Given the description of an element on the screen output the (x, y) to click on. 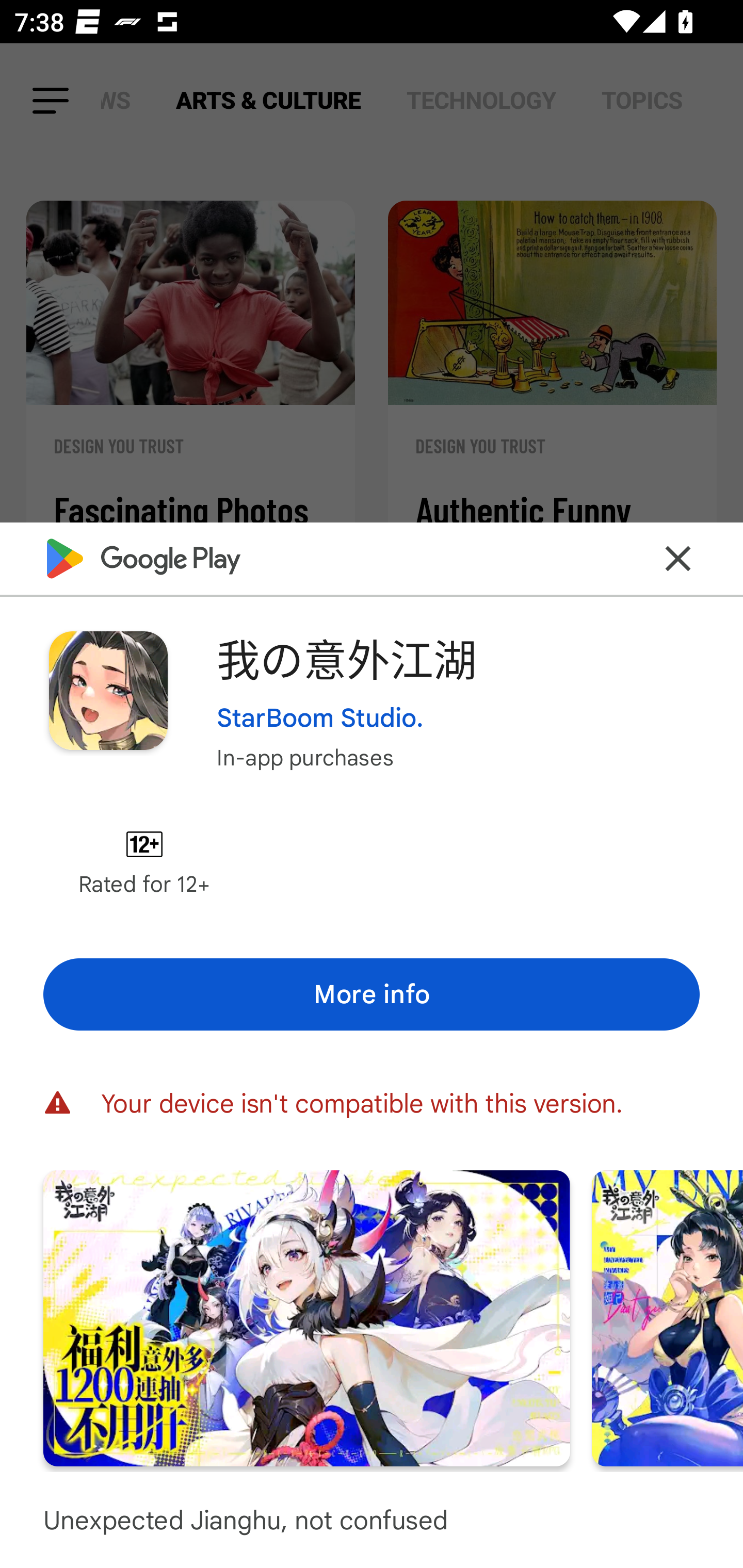
Close (677, 558)
Image of app or game icon for 我の意外江湖 (108, 690)
StarBoom Studio. (320, 716)
More info (371, 994)
Screenshot "1" of "5" (306, 1317)
